Given the description of an element on the screen output the (x, y) to click on. 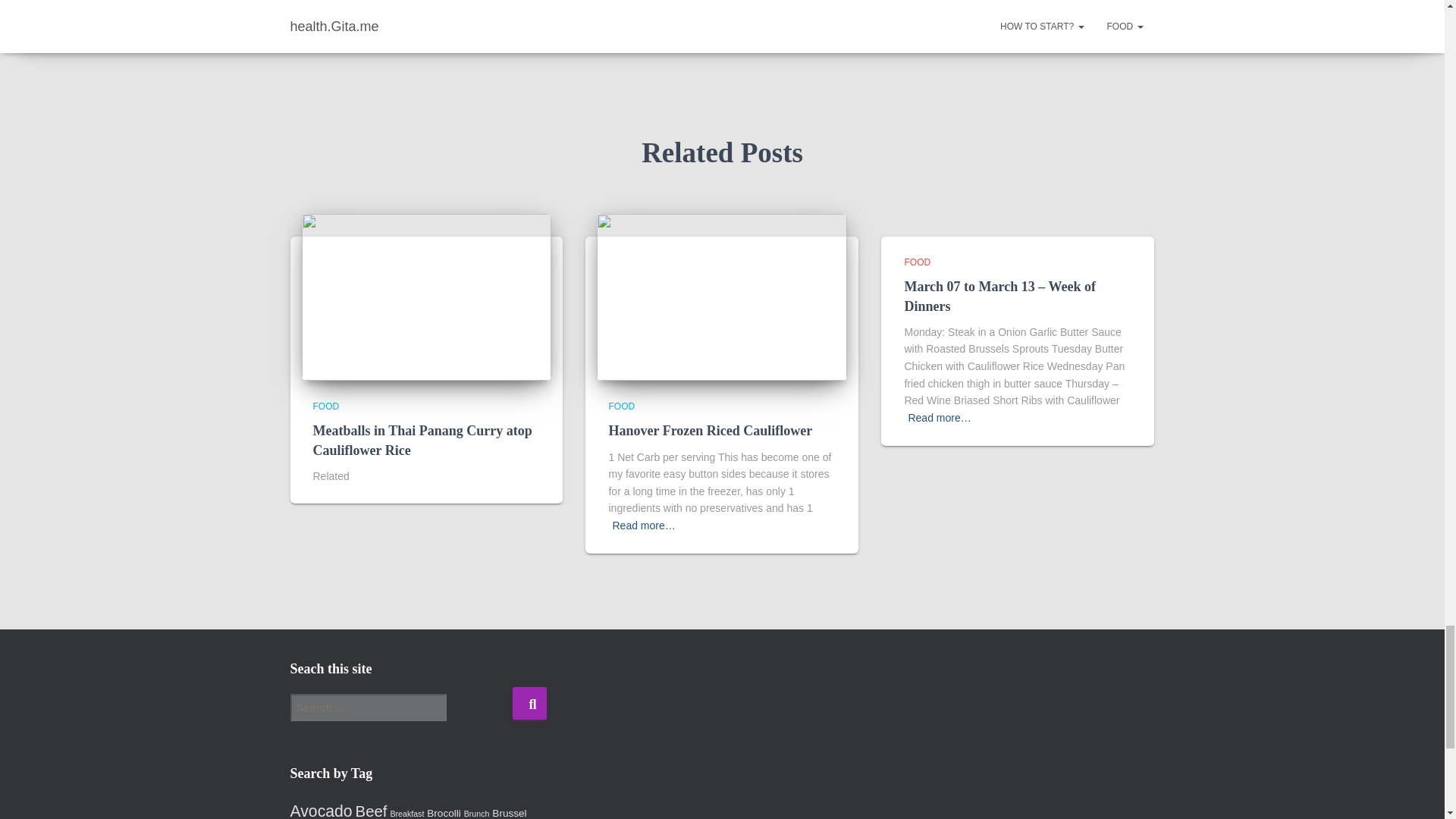
Hanover Frozen Riced Cauliflower (710, 430)
FOOD (917, 262)
Search (529, 703)
FOOD (326, 406)
FOOD (621, 406)
Meatballs in Thai Panang Curry atop Cauliflower Rice (422, 440)
Search (529, 703)
